Given the description of an element on the screen output the (x, y) to click on. 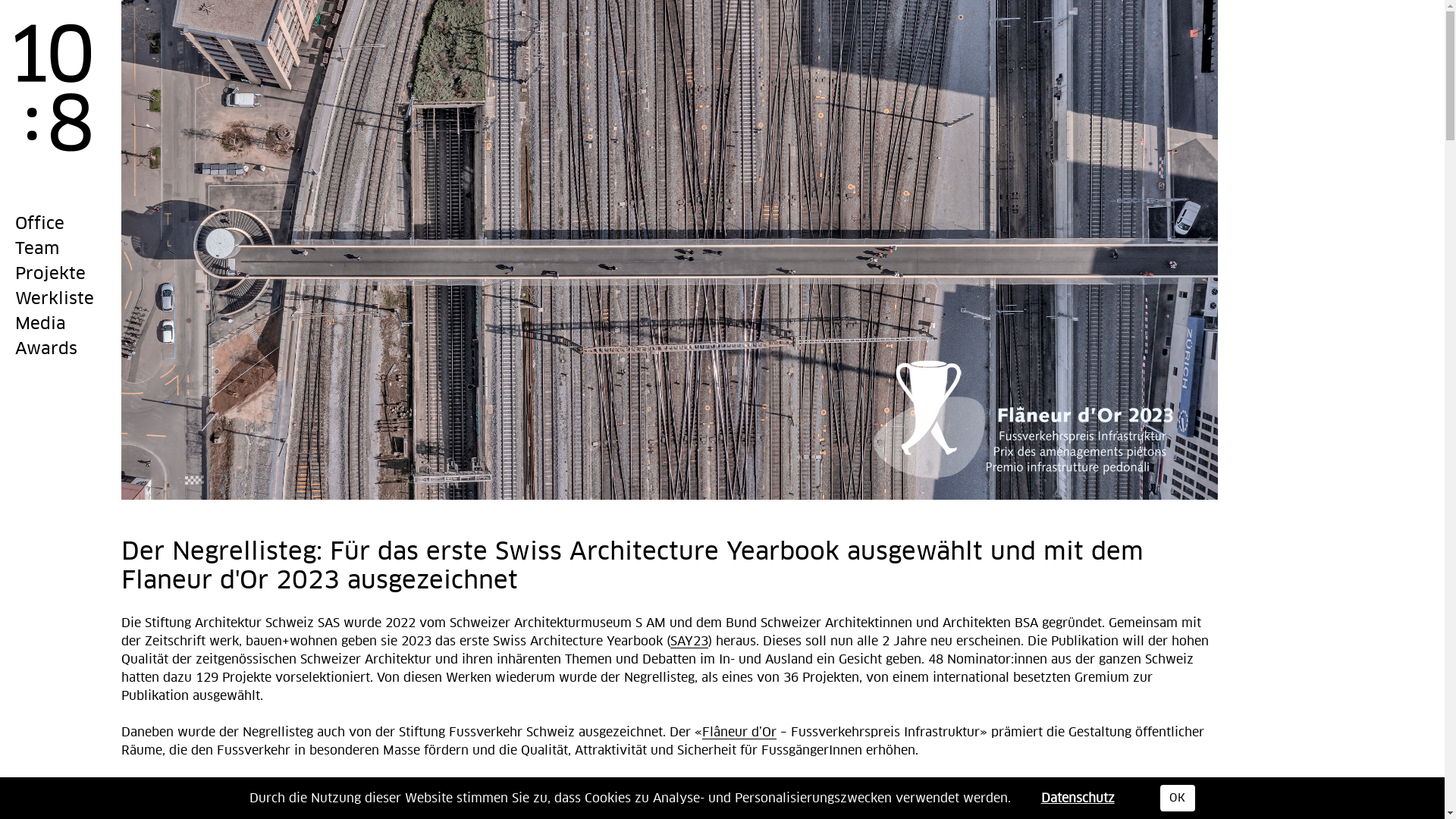
OK Element type: text (1177, 797)
Projekte Element type: text (50, 274)
Media Element type: text (40, 324)
Werkliste Element type: text (54, 299)
Office Element type: text (39, 224)
Datenschutz Element type: text (1077, 797)
Team Element type: text (37, 249)
Awards Element type: text (46, 349)
SAY23 Element type: text (689, 641)
